Given the description of an element on the screen output the (x, y) to click on. 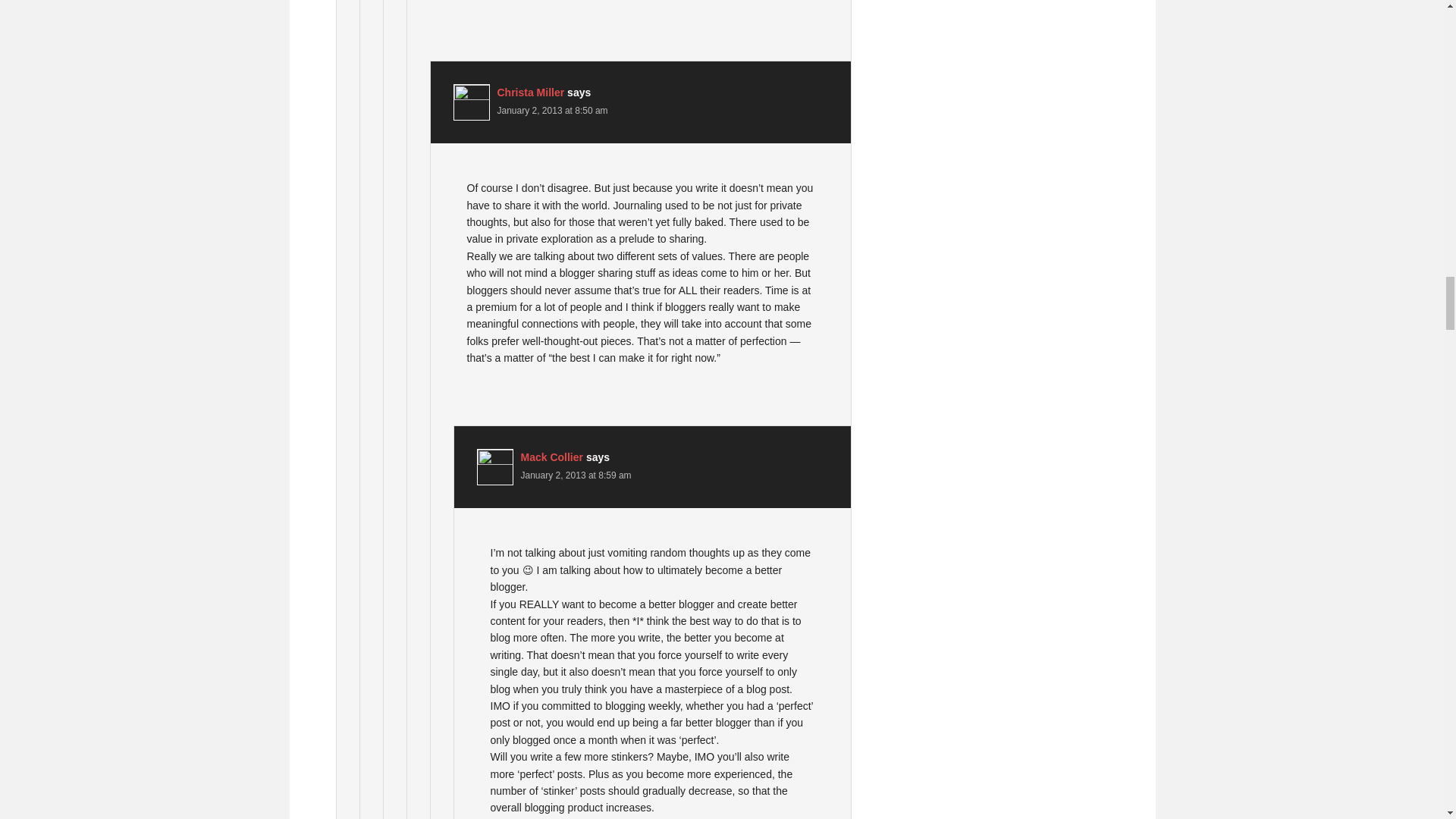
January 2, 2013 at 8:59 am (574, 475)
Mack Collier (550, 457)
January 2, 2013 at 8:50 am (552, 110)
Christa Miller (530, 92)
